Given the description of an element on the screen output the (x, y) to click on. 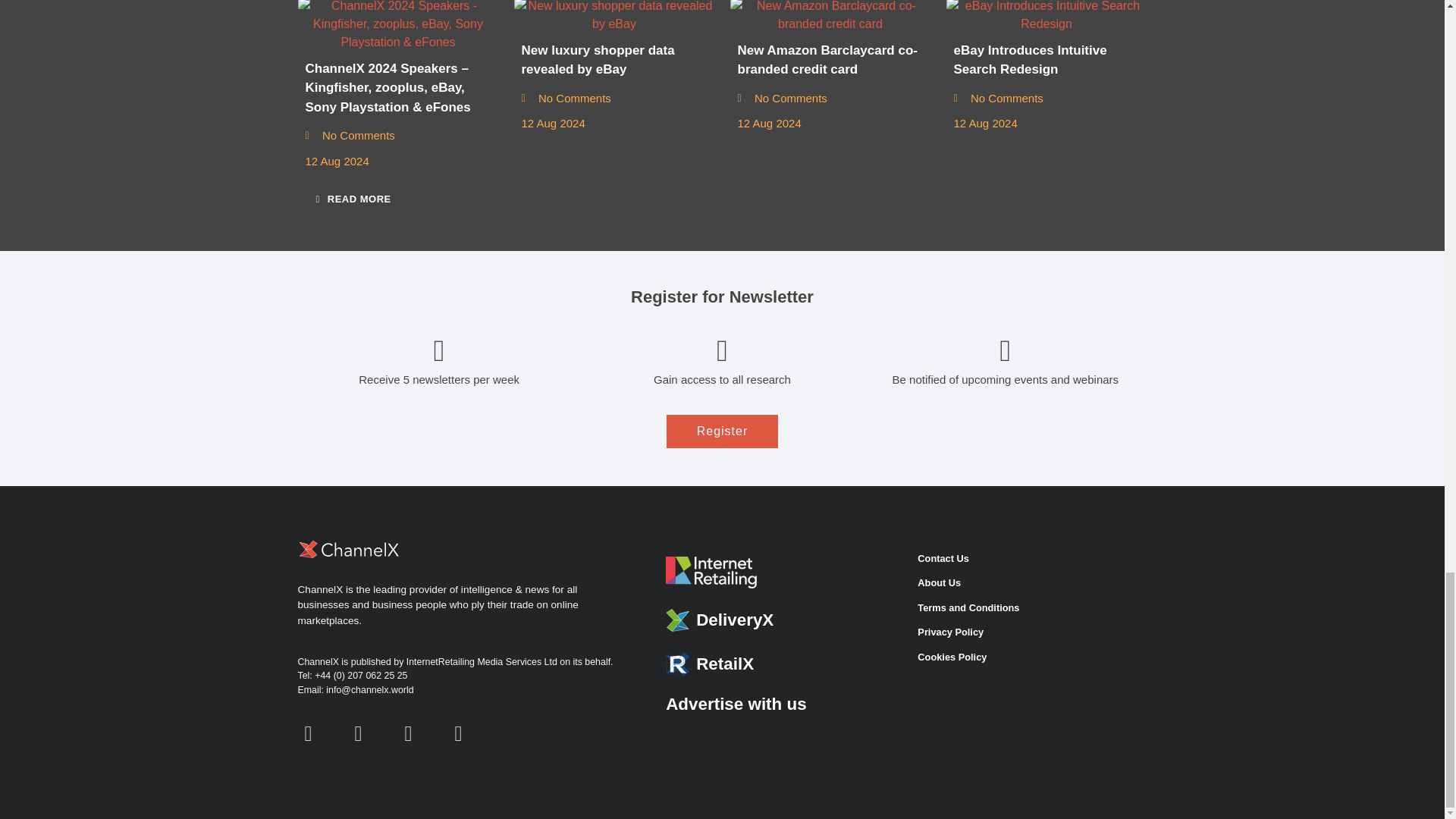
eBay Introduces Intuitive Search Redesign (1046, 16)
New Amazon Barclaycard co-branded credit card (829, 16)
New luxury shopper data revealed by eBay (613, 16)
